Given the description of an element on the screen output the (x, y) to click on. 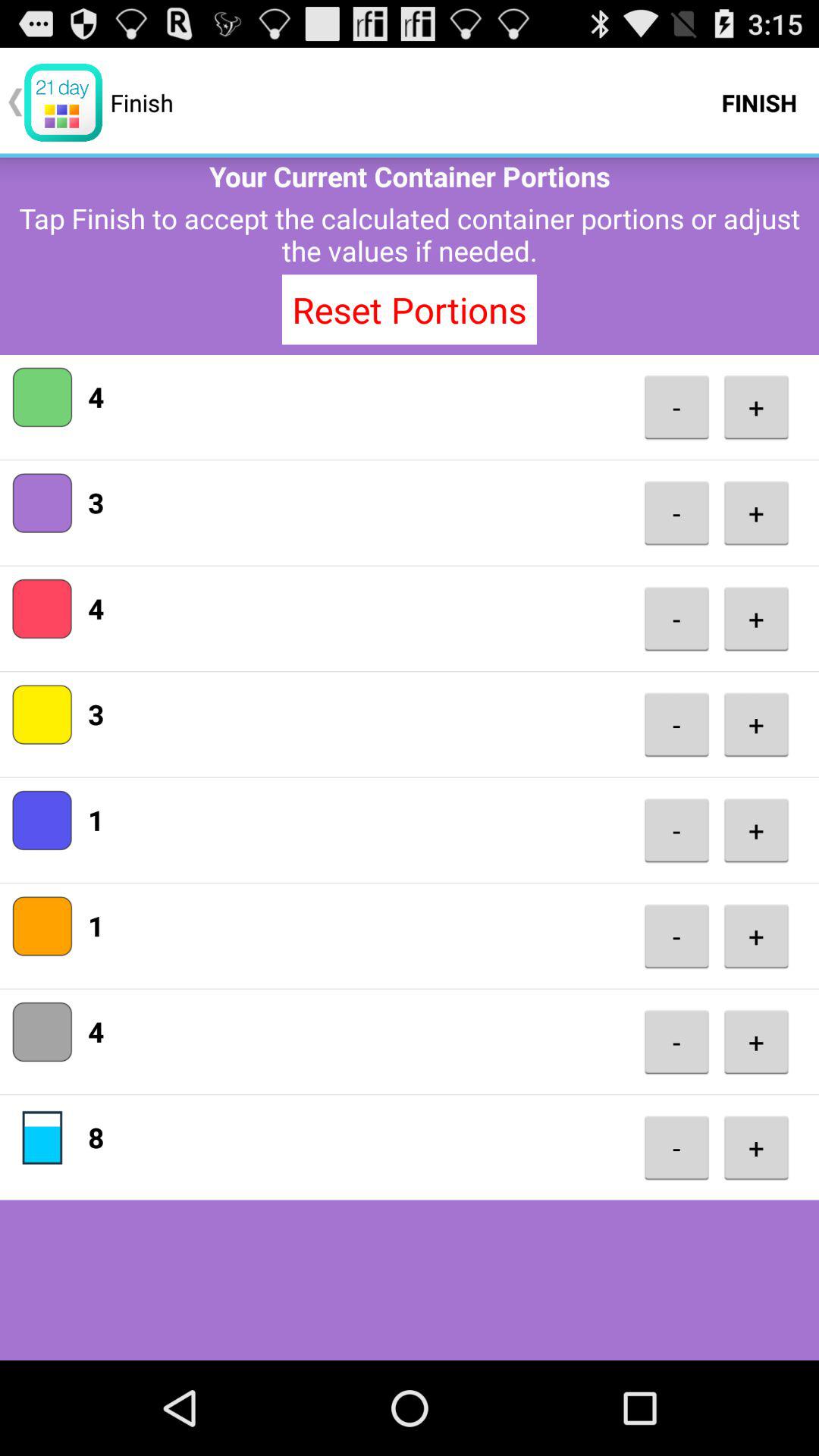
press the icon to the right of the - item (756, 1041)
